Given the description of an element on the screen output the (x, y) to click on. 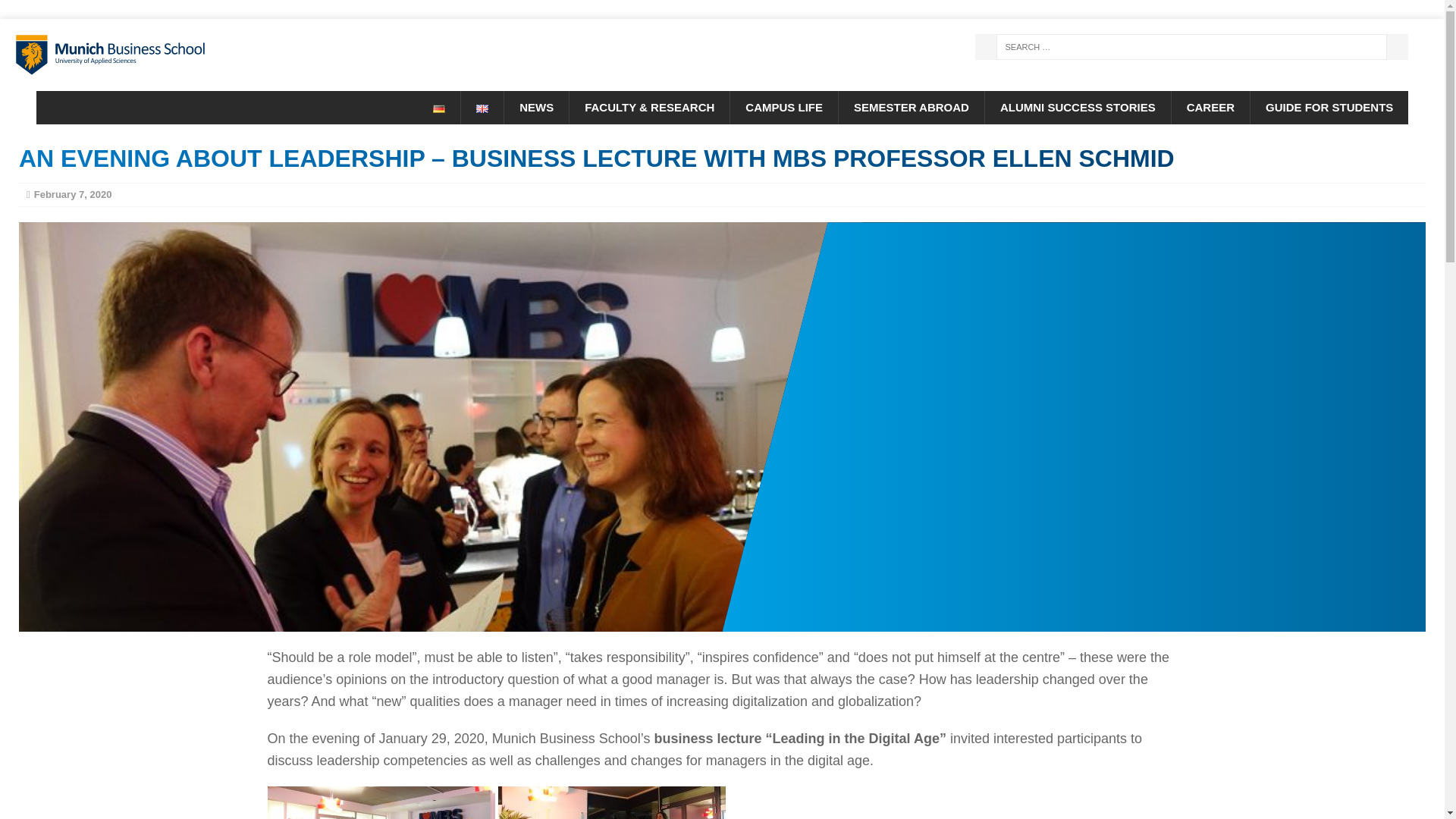
February 7, 2020 (72, 194)
ALUMNI SUCCESS STORIES (1077, 107)
GUIDE FOR STUDENTS (1328, 107)
NEWS (536, 107)
CAREER (1209, 107)
SEMESTER ABROAD (911, 107)
Munich Business School Homepage (228, 54)
CAMPUS LIFE (783, 107)
